Given the description of an element on the screen output the (x, y) to click on. 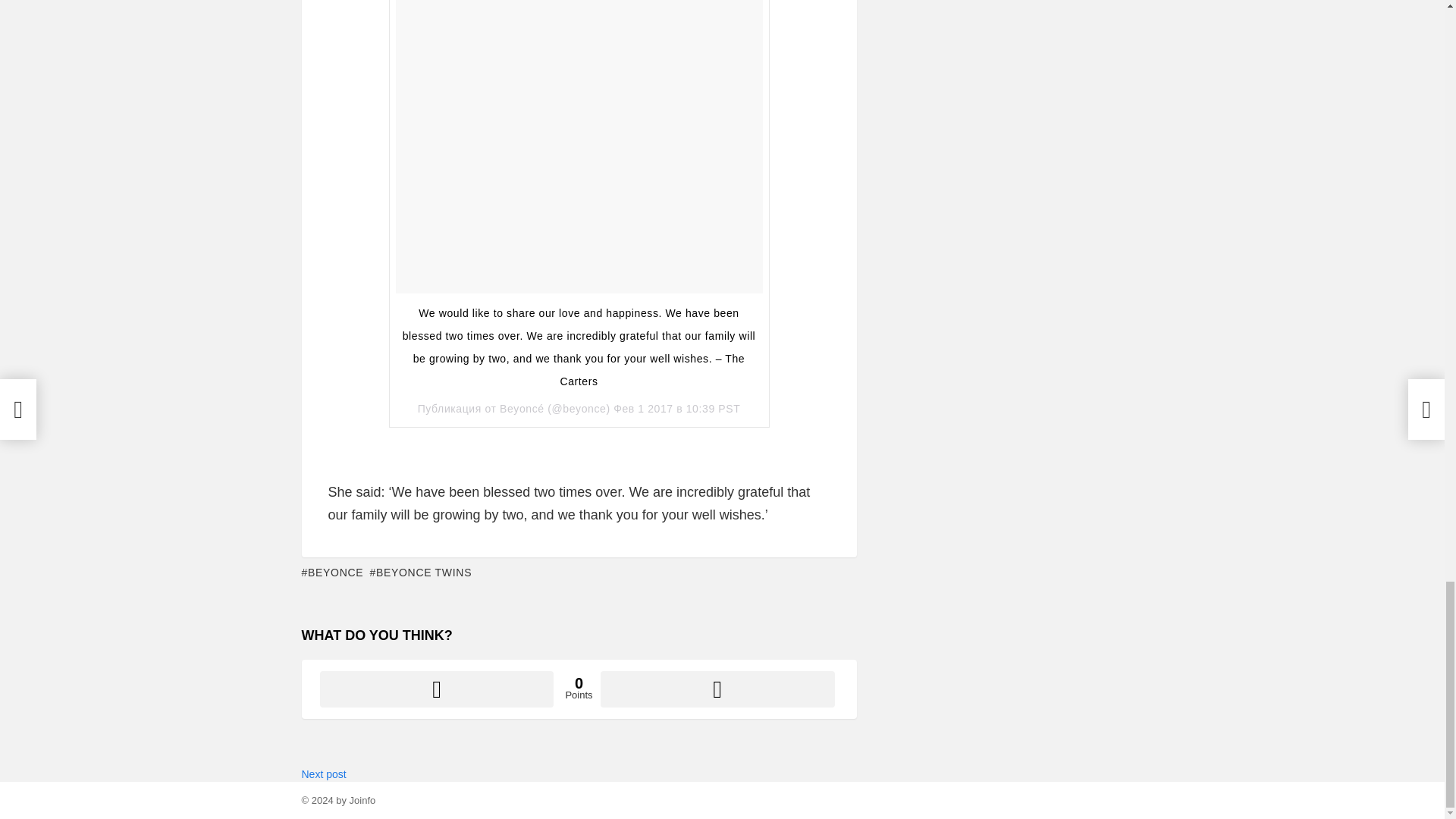
Upvote (437, 688)
Downvote (716, 688)
